Given the description of an element on the screen output the (x, y) to click on. 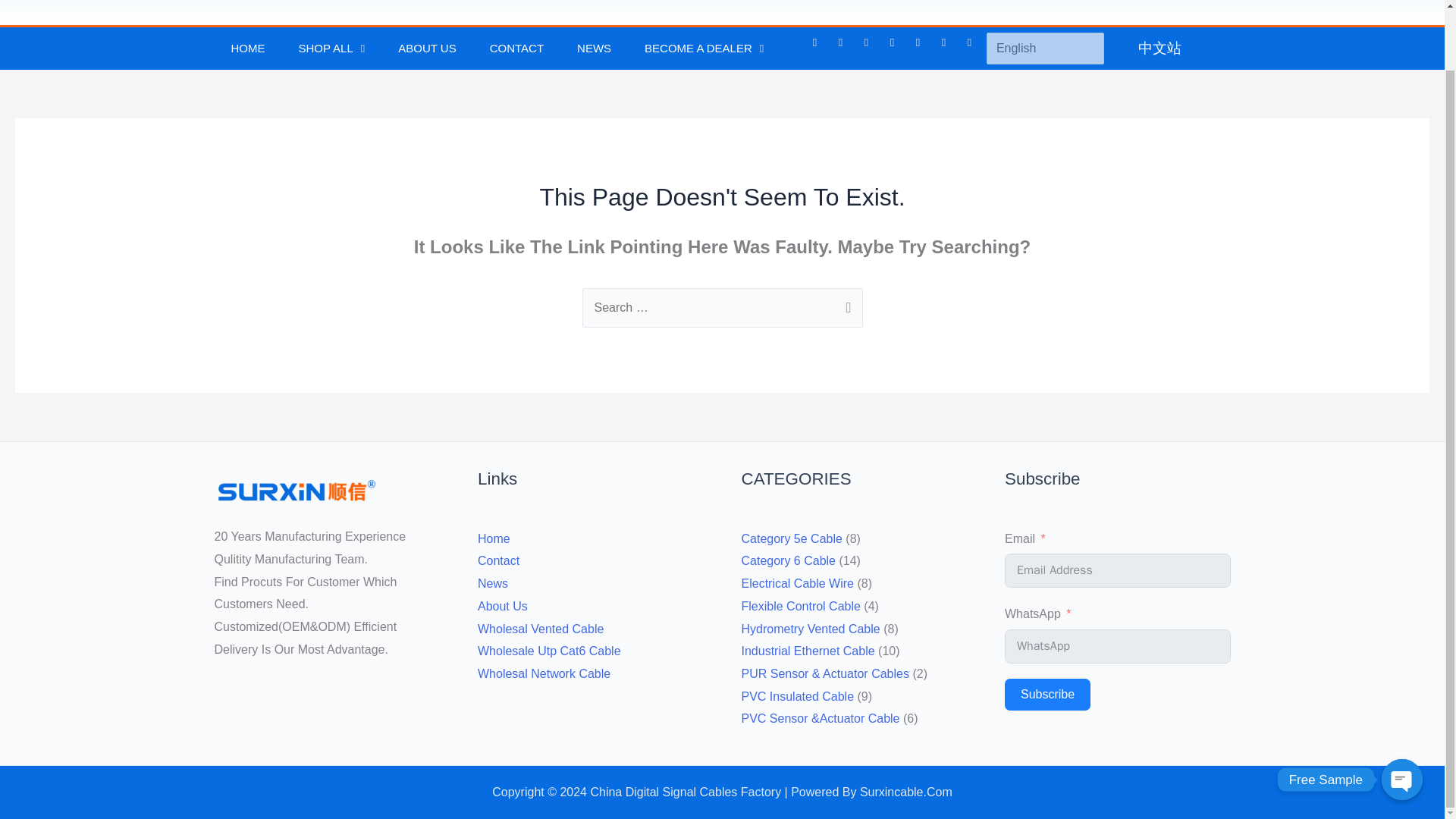
BECOME A DEALER (703, 48)
ABOUT US (426, 48)
SHOP ALL (331, 48)
NEWS (593, 48)
CONTACT (516, 48)
HOME (247, 48)
